Given the description of an element on the screen output the (x, y) to click on. 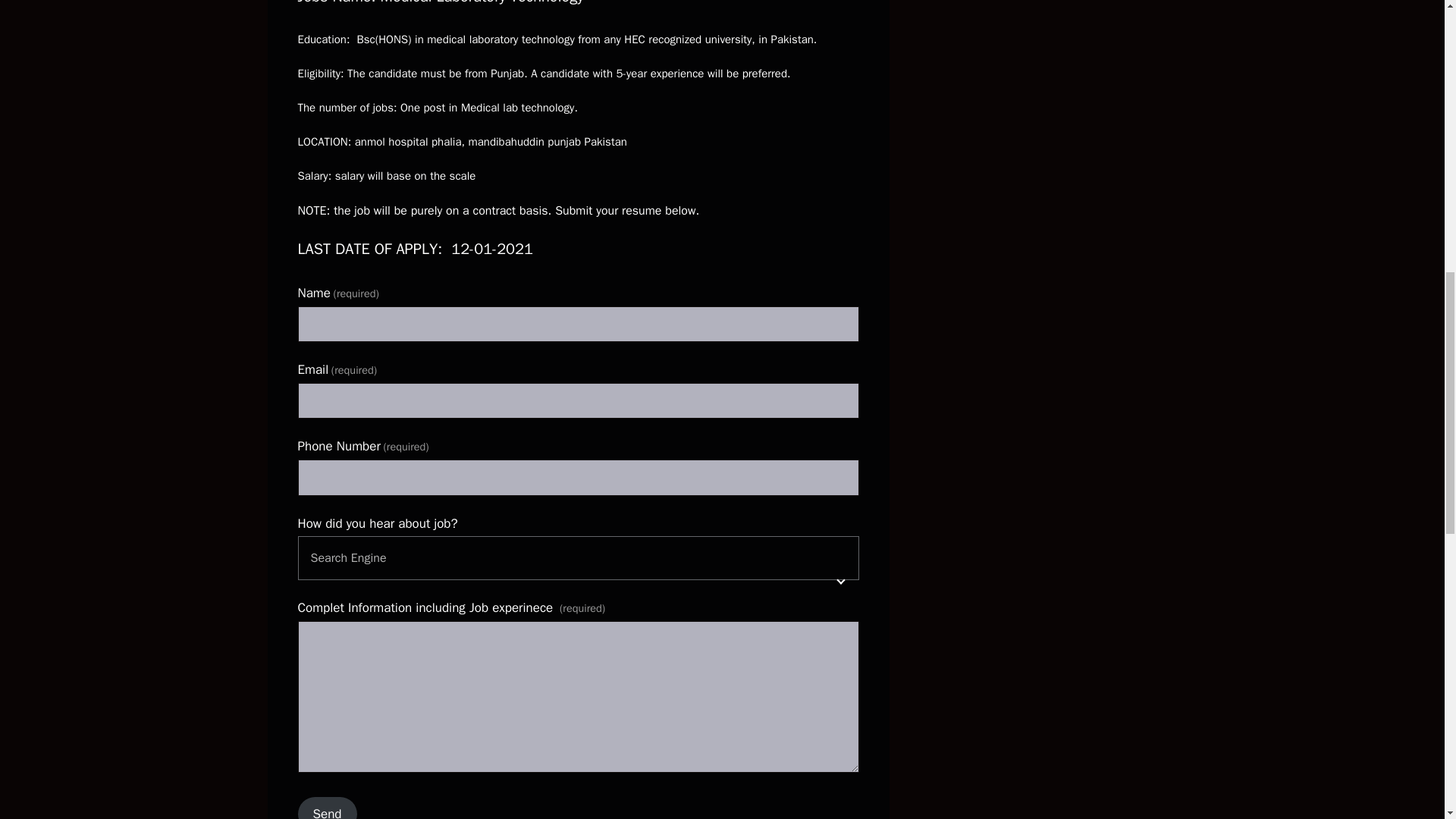
Send (326, 807)
Scroll back to top (1406, 720)
